Given the description of an element on the screen output the (x, y) to click on. 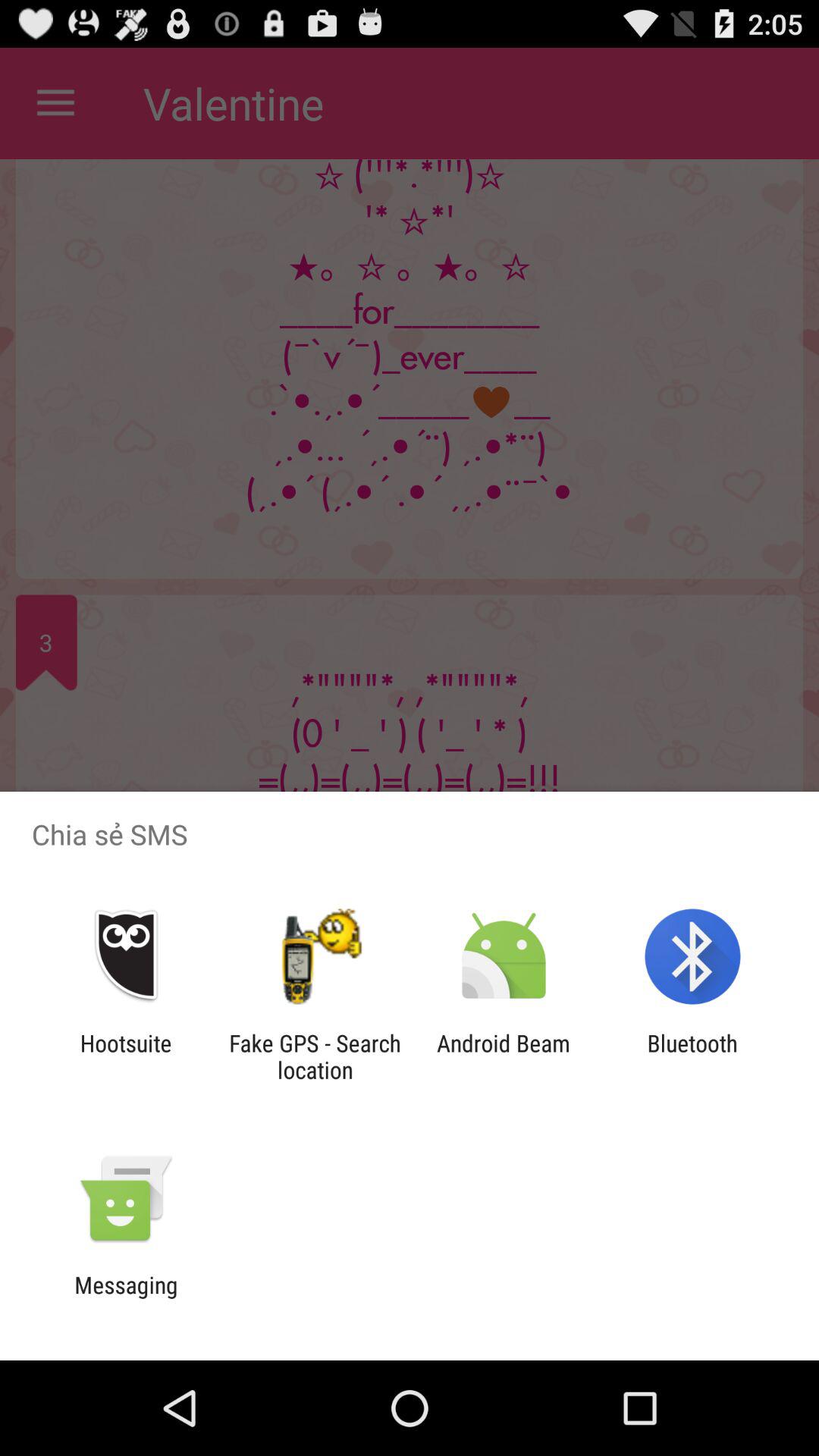
press item to the right of hootsuite icon (314, 1056)
